Given the description of an element on the screen output the (x, y) to click on. 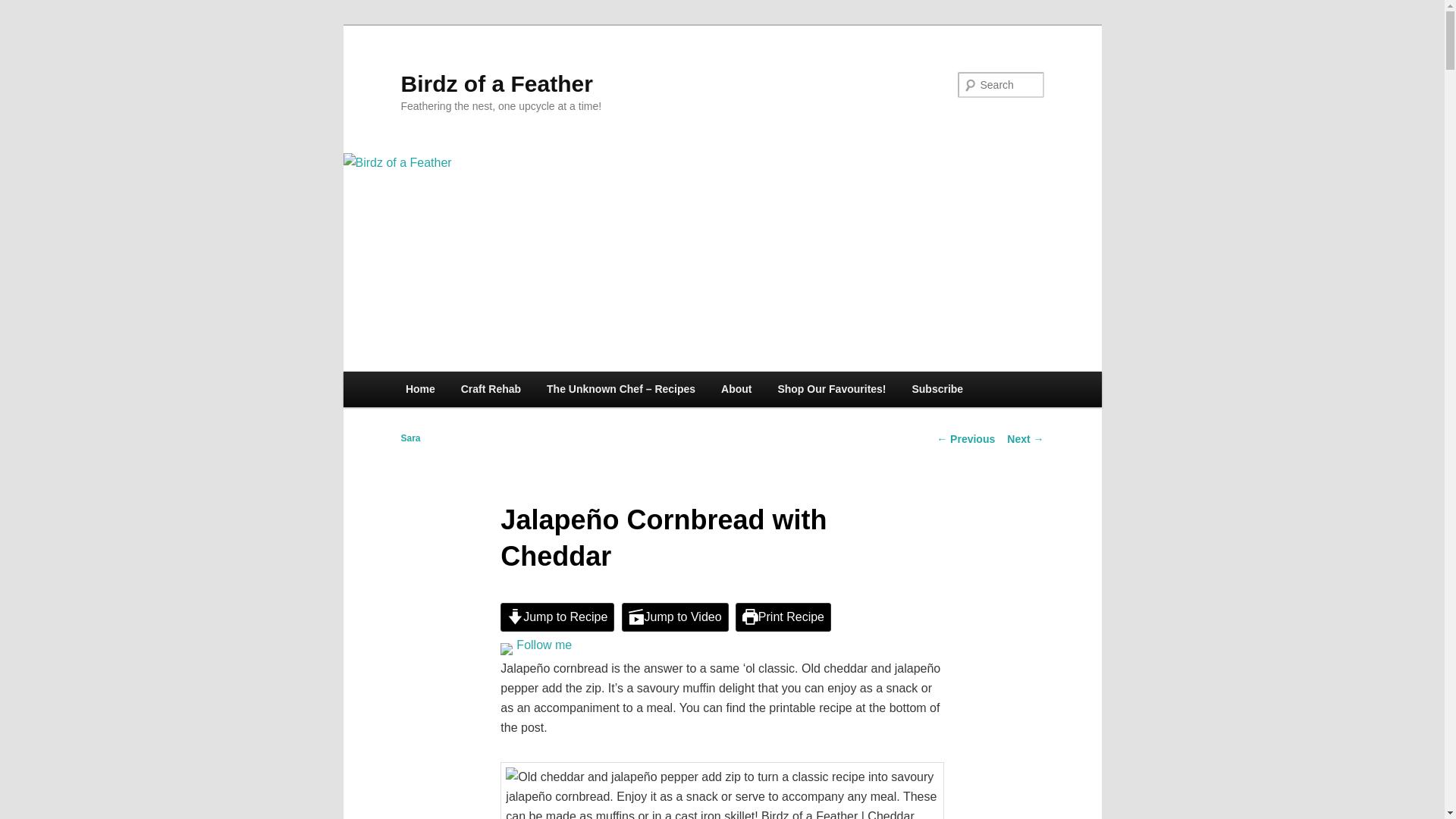
Craft Rehab (491, 389)
Subscribe (937, 389)
Jump to Video (675, 616)
About (735, 389)
Sara (410, 438)
Print Recipe (783, 616)
Shop Our Favourites! (831, 389)
Home (420, 389)
Birdz of a Feather (496, 83)
Follow me (544, 644)
Search (25, 9)
Jump to Recipe (557, 616)
View all posts by Sara (410, 438)
